Given the description of an element on the screen output the (x, y) to click on. 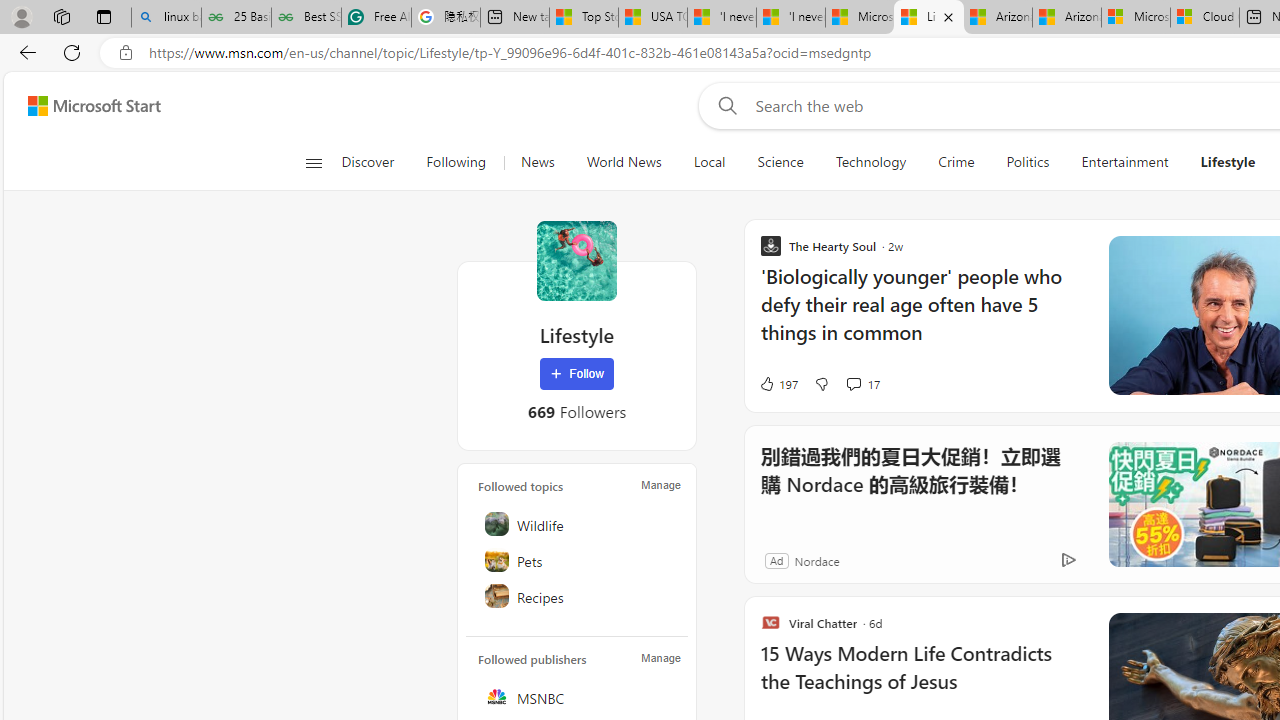
Follow (577, 373)
25 Basic Linux Commands For Beginners - GeeksforGeeks (236, 17)
View comments 17 Comment (852, 383)
Class: button-glyph (313, 162)
Entertainment (1124, 162)
